Given the description of an element on the screen output the (x, y) to click on. 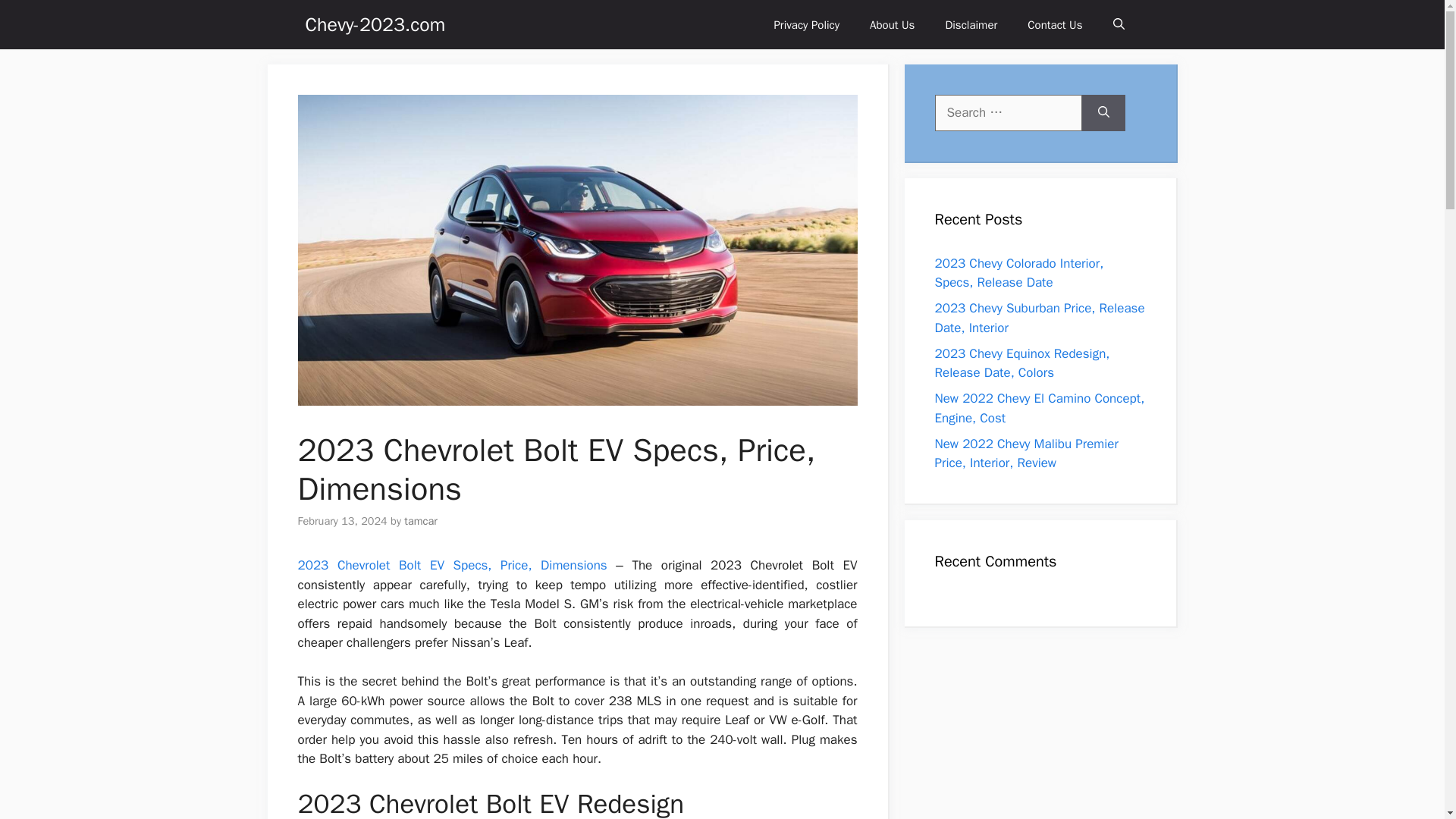
Disclaimer (970, 23)
About Us (892, 23)
Contact Us (1054, 23)
View all posts by tamcar (421, 520)
Chevy-2023.com (374, 24)
New 2022 Chevy El Camino Concept, Engine, Cost (1039, 407)
tamcar (421, 520)
2023 Chevy Suburban Price, Release Date, Interior (1039, 317)
2023 Chevrolet Bolt EV Specs, Price, Dimensions (452, 565)
Privacy Policy (806, 23)
New 2022 Chevy Malibu Premier Price, Interior, Review (1026, 452)
2023 Chevy Colorado Interior, Specs, Release Date (1018, 272)
Search for: (1007, 113)
2023 Chevy Equinox Redesign, Release Date, Colors (1021, 363)
